Given the description of an element on the screen output the (x, y) to click on. 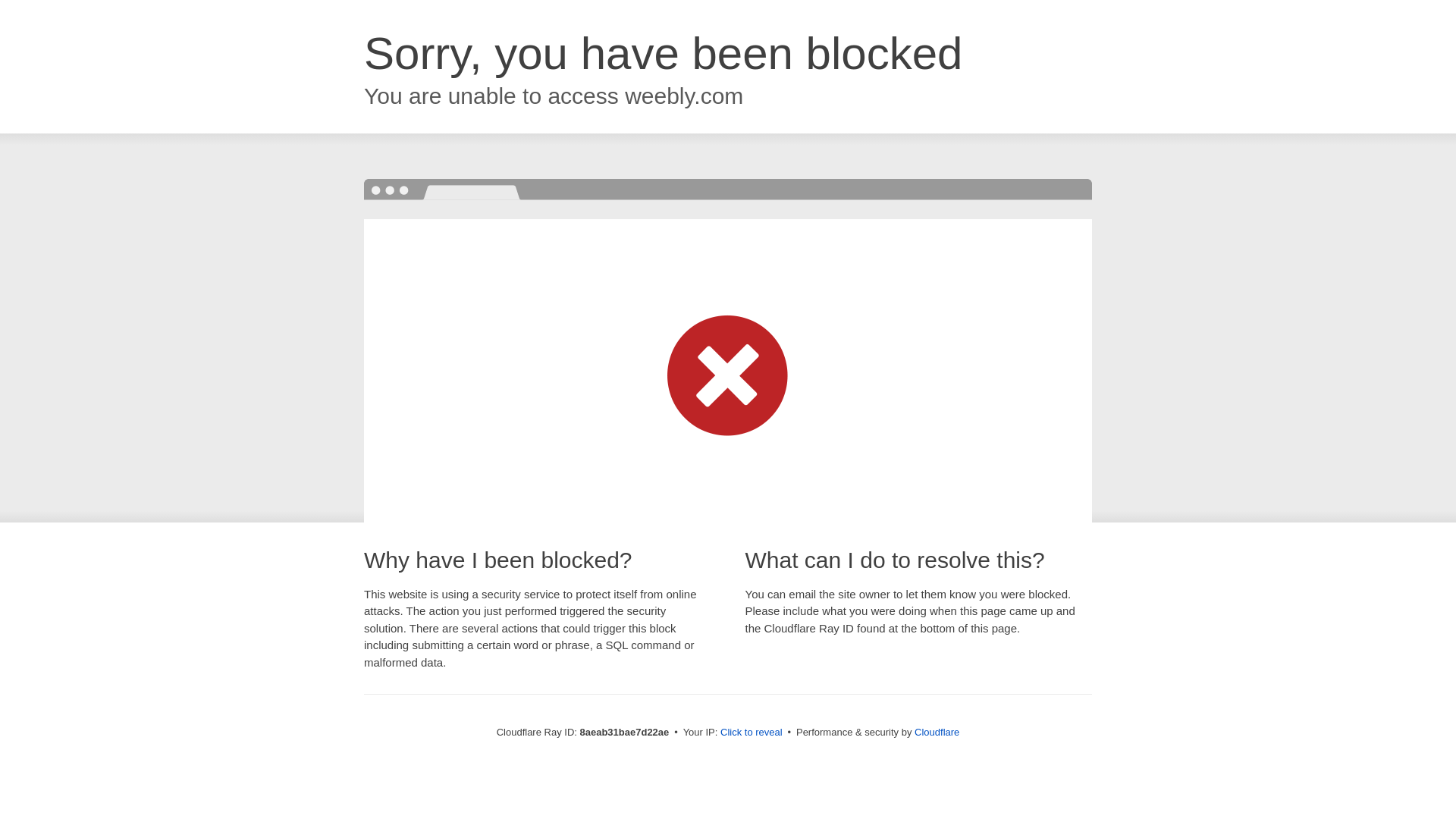
Cloudflare (936, 731)
Click to reveal (751, 732)
